Given the description of an element on the screen output the (x, y) to click on. 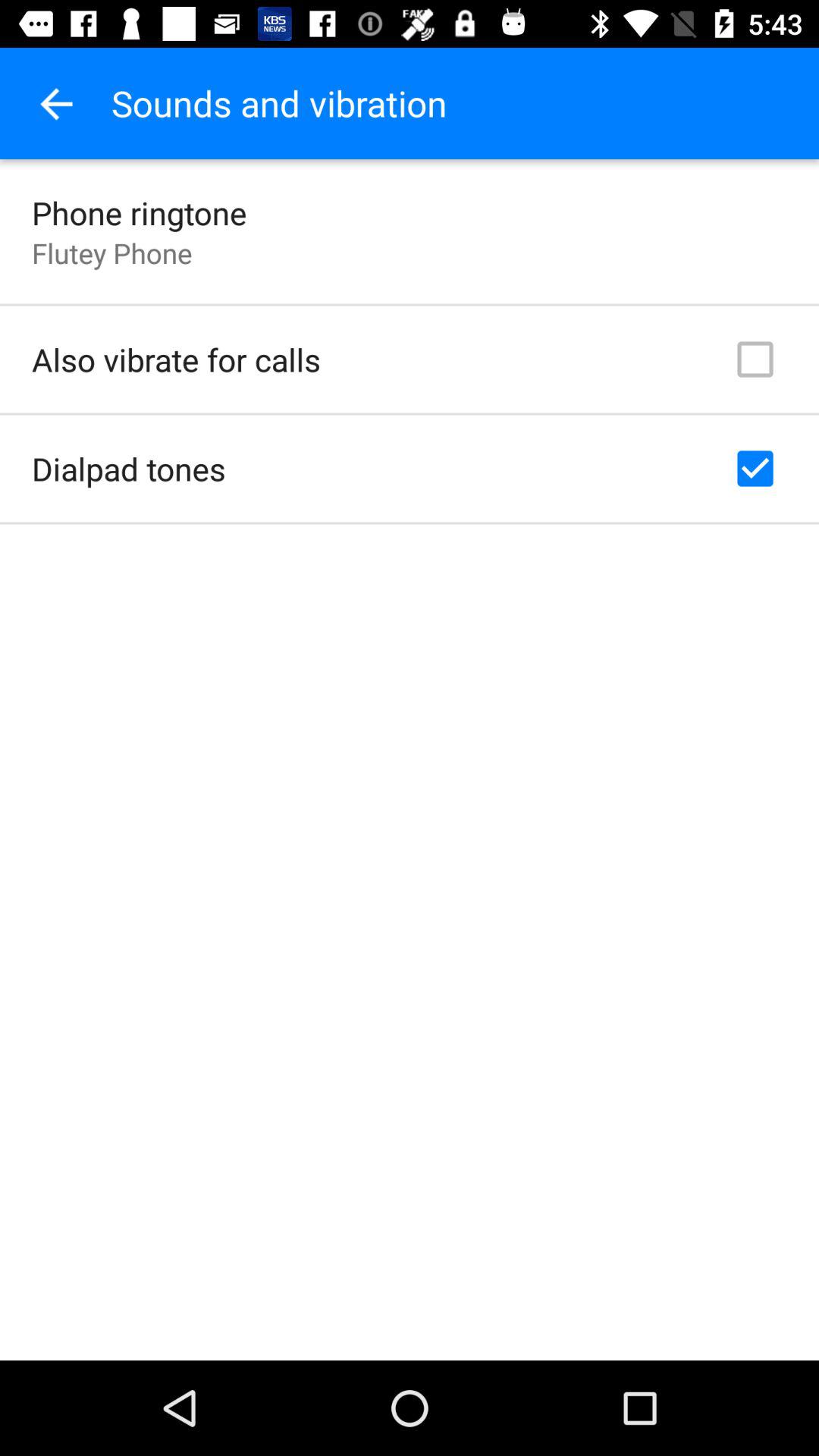
turn on the dialpad tones item (128, 468)
